Given the description of an element on the screen output the (x, y) to click on. 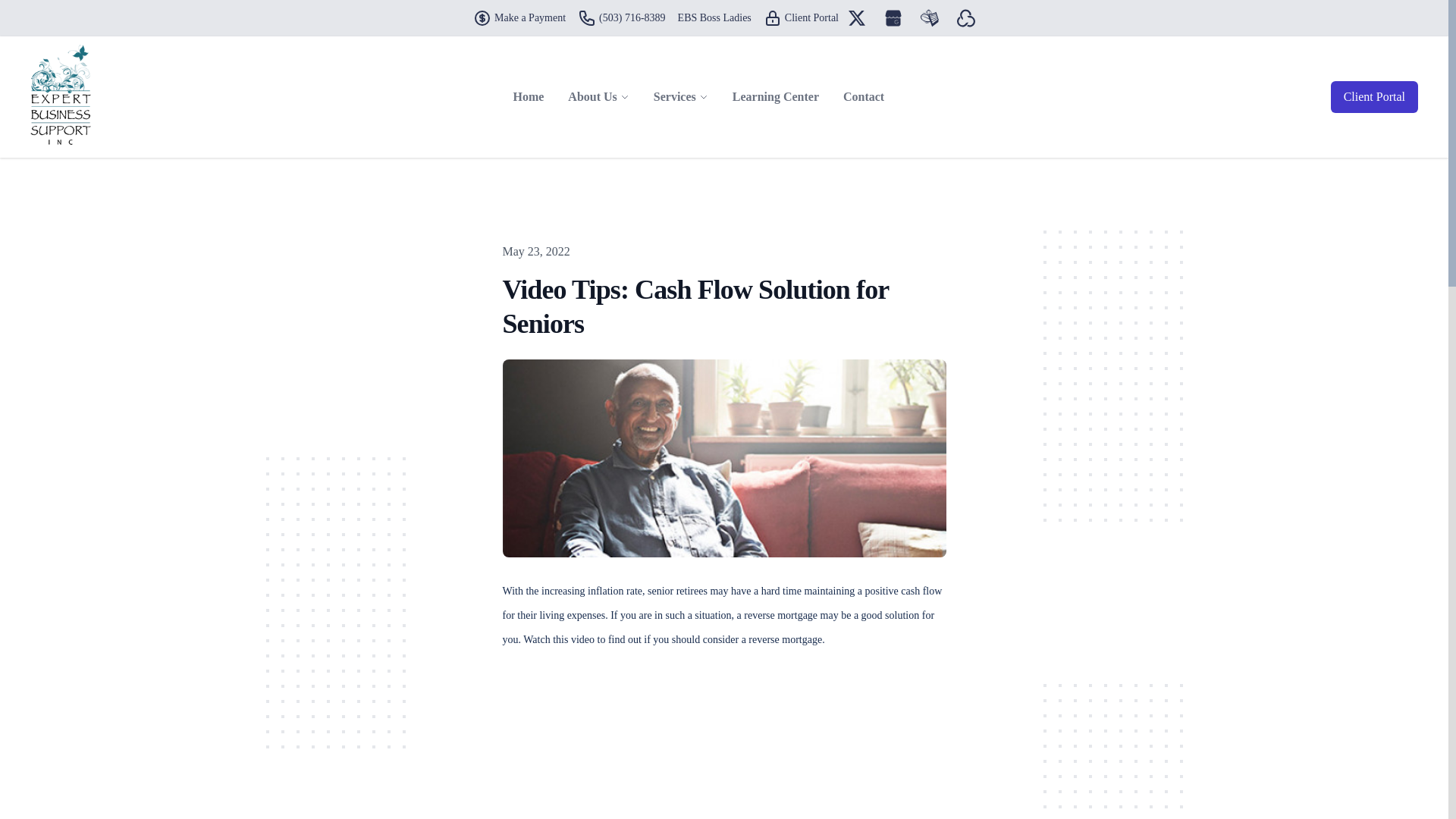
Google Business Profile (892, 18)
Client Portal (771, 18)
Learning Center (775, 96)
About Us (591, 96)
EBS Boss Ladies (714, 17)
Client Portal (800, 18)
Home (528, 96)
Contact (863, 96)
Make a Payment (482, 18)
TaxBuzz (929, 18)
